Given the description of an element on the screen output the (x, y) to click on. 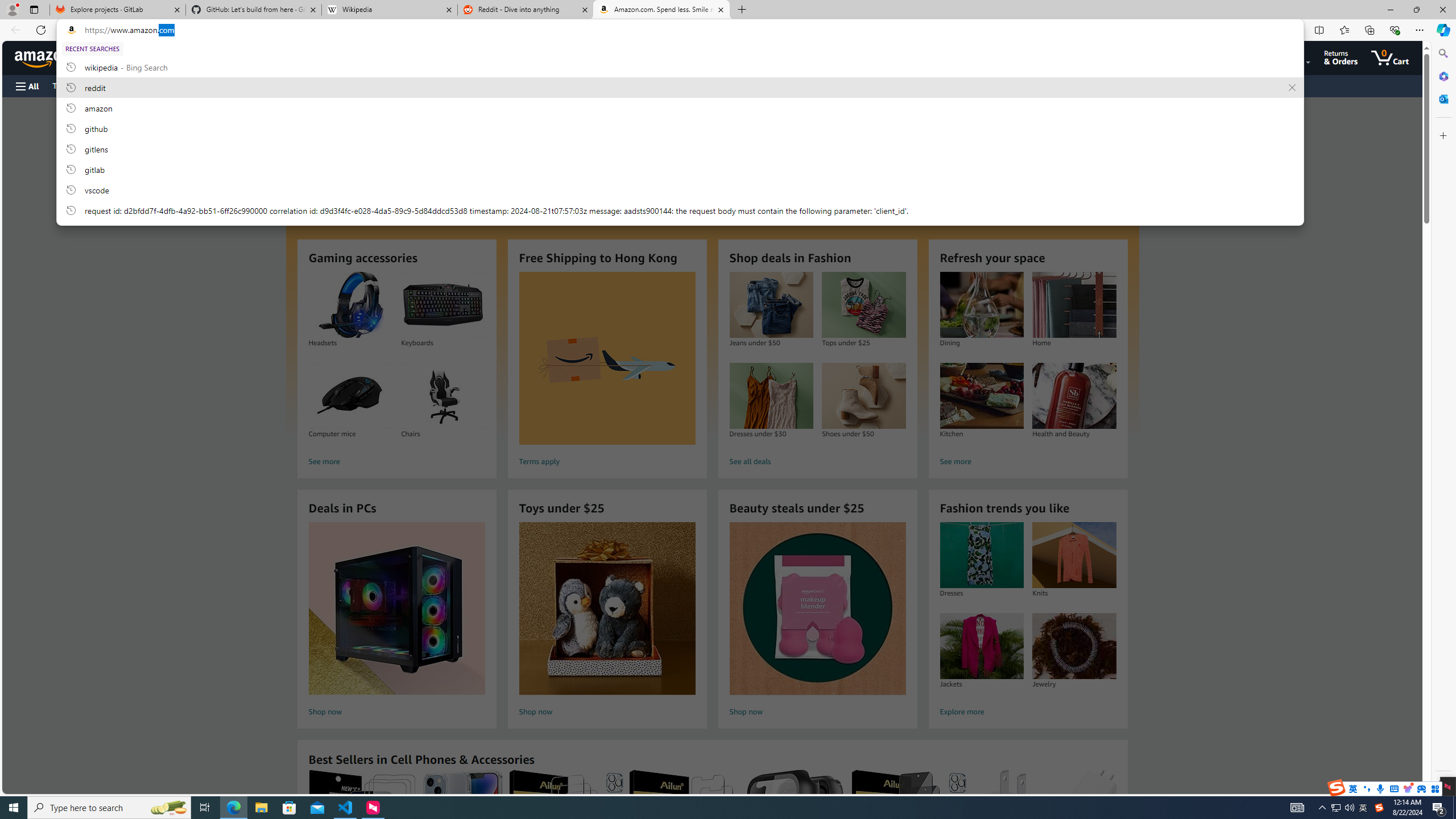
New Tab (741, 9)
Toys under $25 (606, 608)
Free Shipping to Hong Kong Learn more (711, 267)
gitlens, recent searches from history (679, 148)
Jackets (981, 645)
Dresses (981, 555)
Dresses under $30 (771, 395)
Explore more (1027, 712)
Beauty steals under $25 (818, 608)
View site information (70, 29)
Toys under $25 Shop now (606, 620)
Dining (981, 304)
reddit, recent searches from history (679, 86)
